Given the description of an element on the screen output the (x, y) to click on. 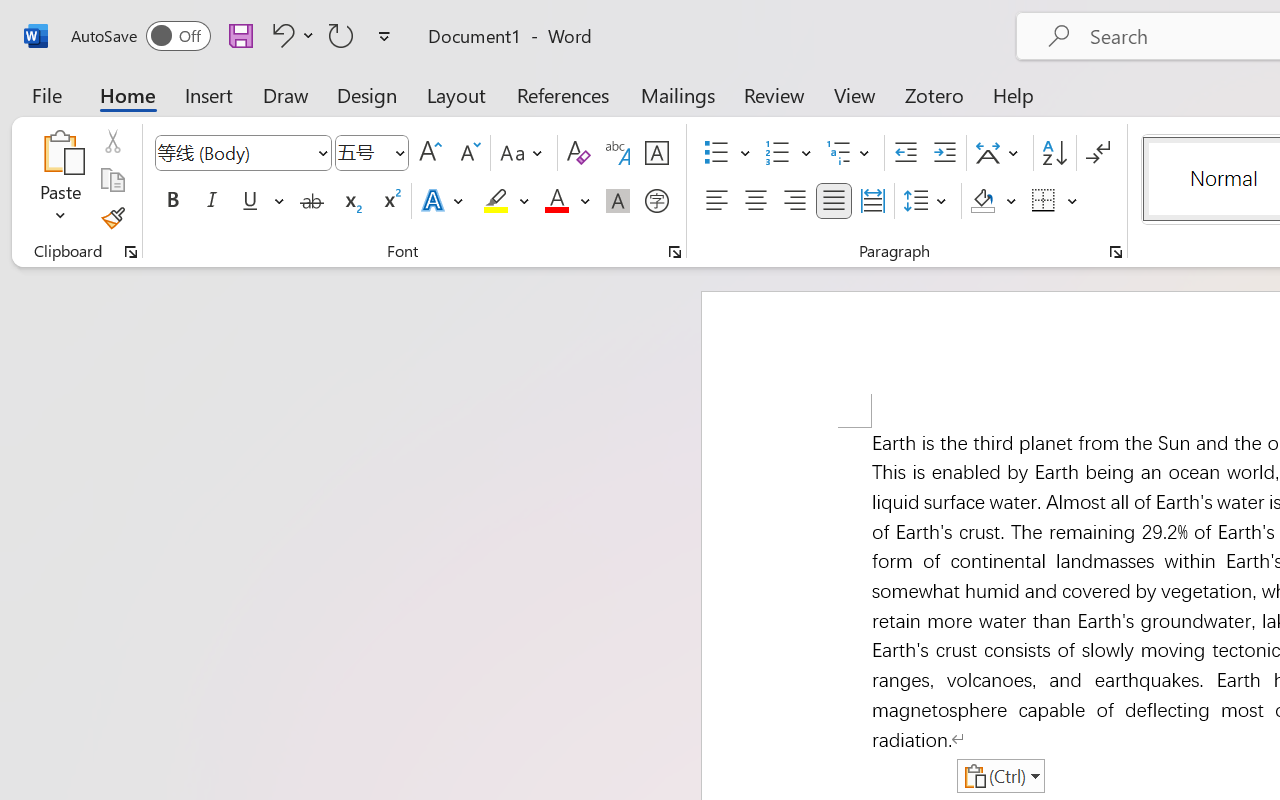
Office Clipboard... (131, 252)
Subscript (350, 201)
Undo Paste Text Only (290, 35)
Character Shading (618, 201)
Grow Font (430, 153)
Paragraph... (1115, 252)
Line and Paragraph Spacing (927, 201)
Clear Formatting (578, 153)
Font... (675, 252)
Show/Hide Editing Marks (1098, 153)
Phonetic Guide... (618, 153)
